Given the description of an element on the screen output the (x, y) to click on. 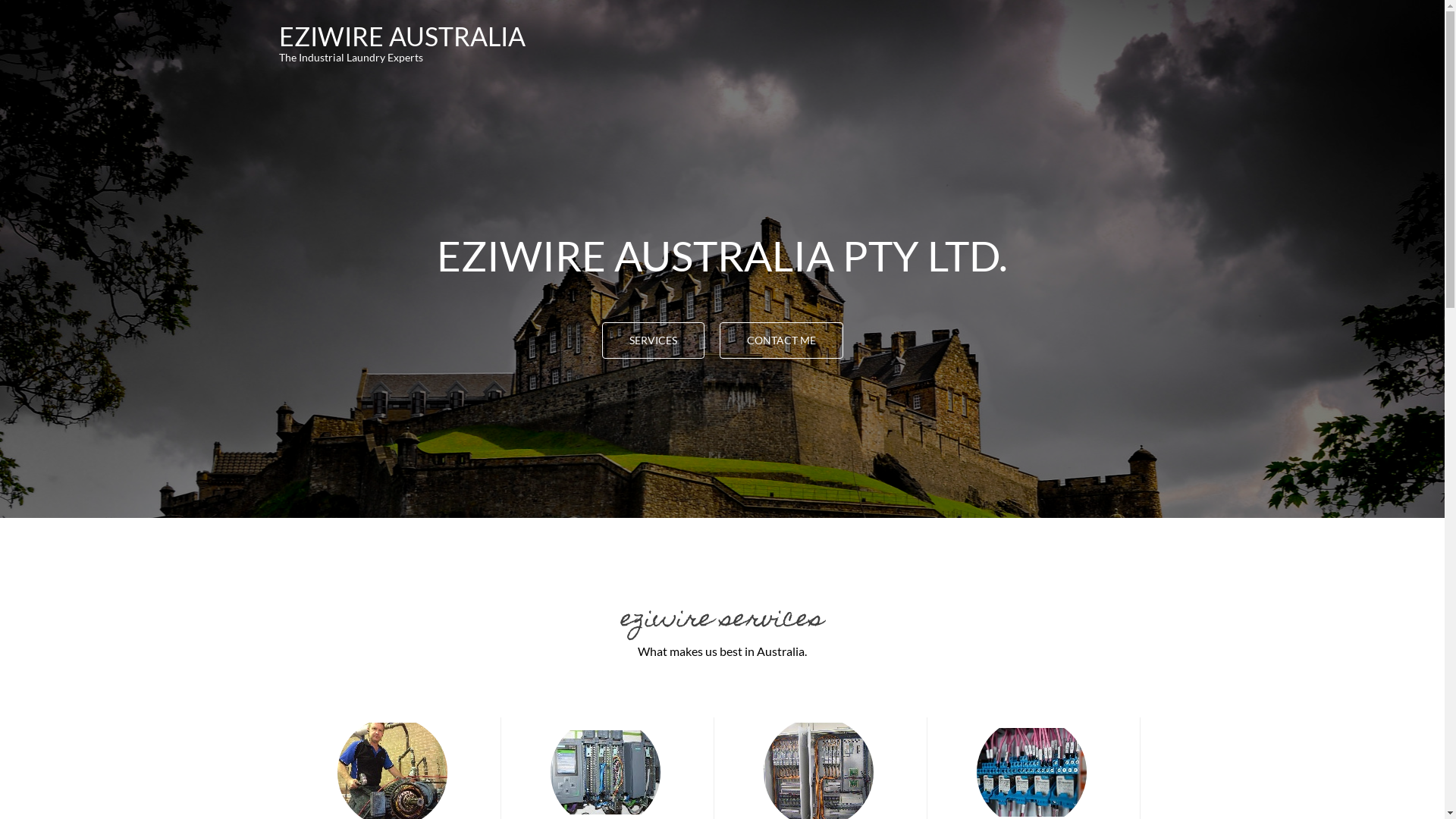
EZIWIRE AUSTRALIA Element type: text (402, 35)
CONTACT ME Element type: text (780, 340)
SERVICES Element type: text (653, 340)
